Given the description of an element on the screen output the (x, y) to click on. 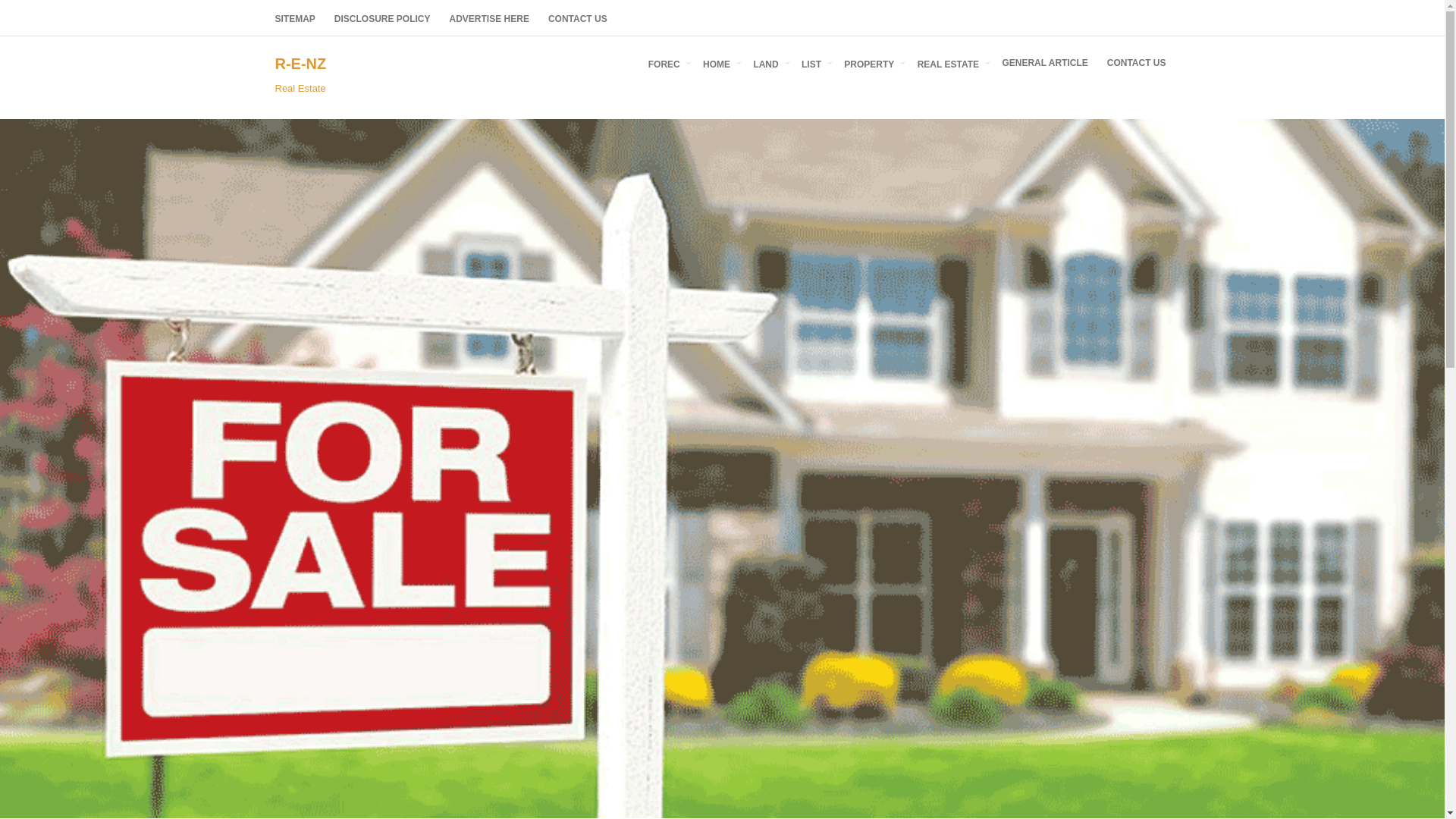
FOREC (665, 62)
REAL ESTATE (950, 62)
LIST (812, 62)
CONTACT US (1136, 61)
R-E-NZ (300, 63)
PROPERTY (870, 62)
GENERAL ARTICLE (1044, 61)
SITEMAP (293, 18)
DISCLOSURE POLICY (382, 18)
